Given the description of an element on the screen output the (x, y) to click on. 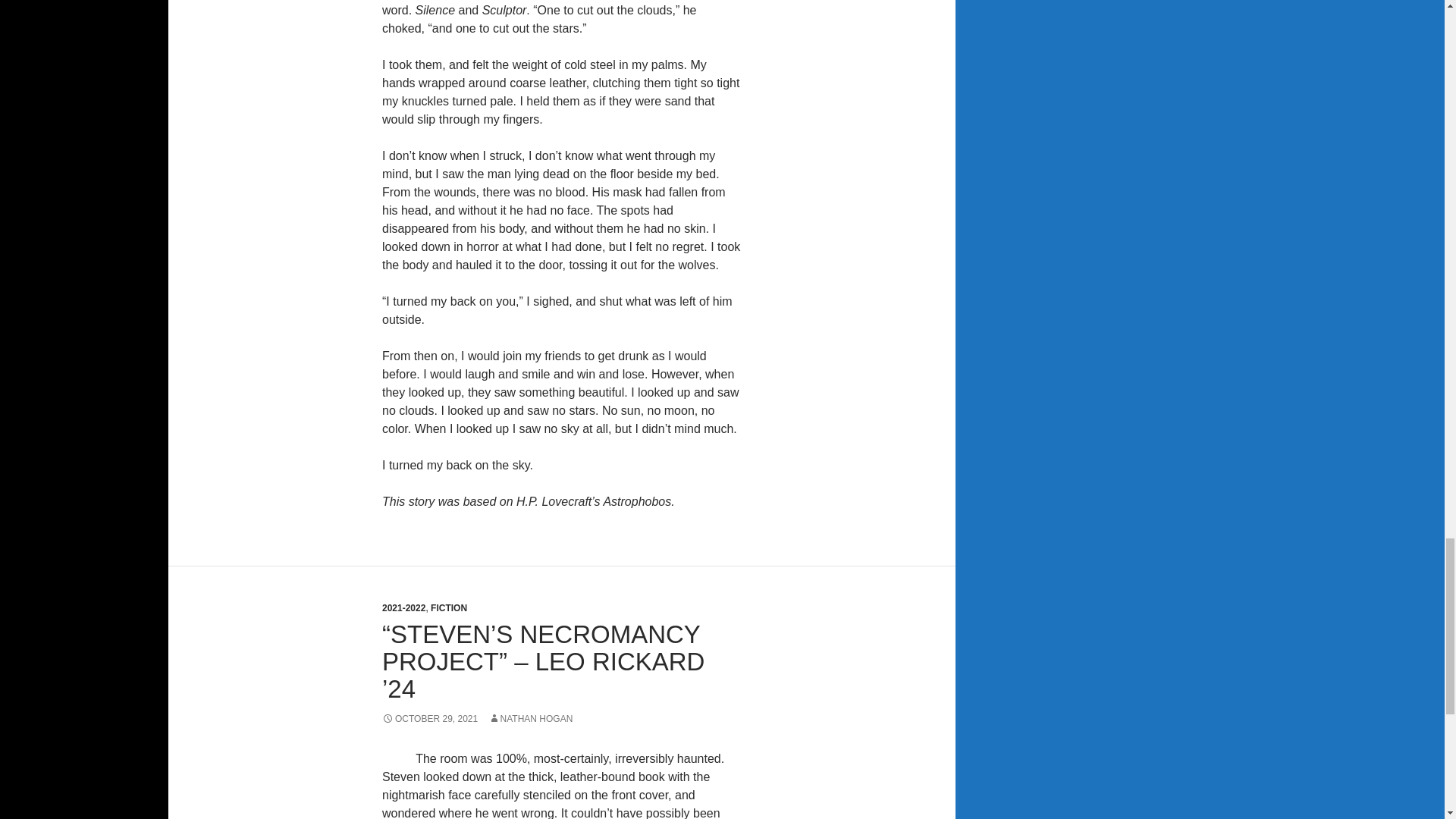
FICTION (448, 607)
2021-2022 (403, 607)
OCTOBER 29, 2021 (429, 718)
NATHAN HOGAN (530, 718)
